Given the description of an element on the screen output the (x, y) to click on. 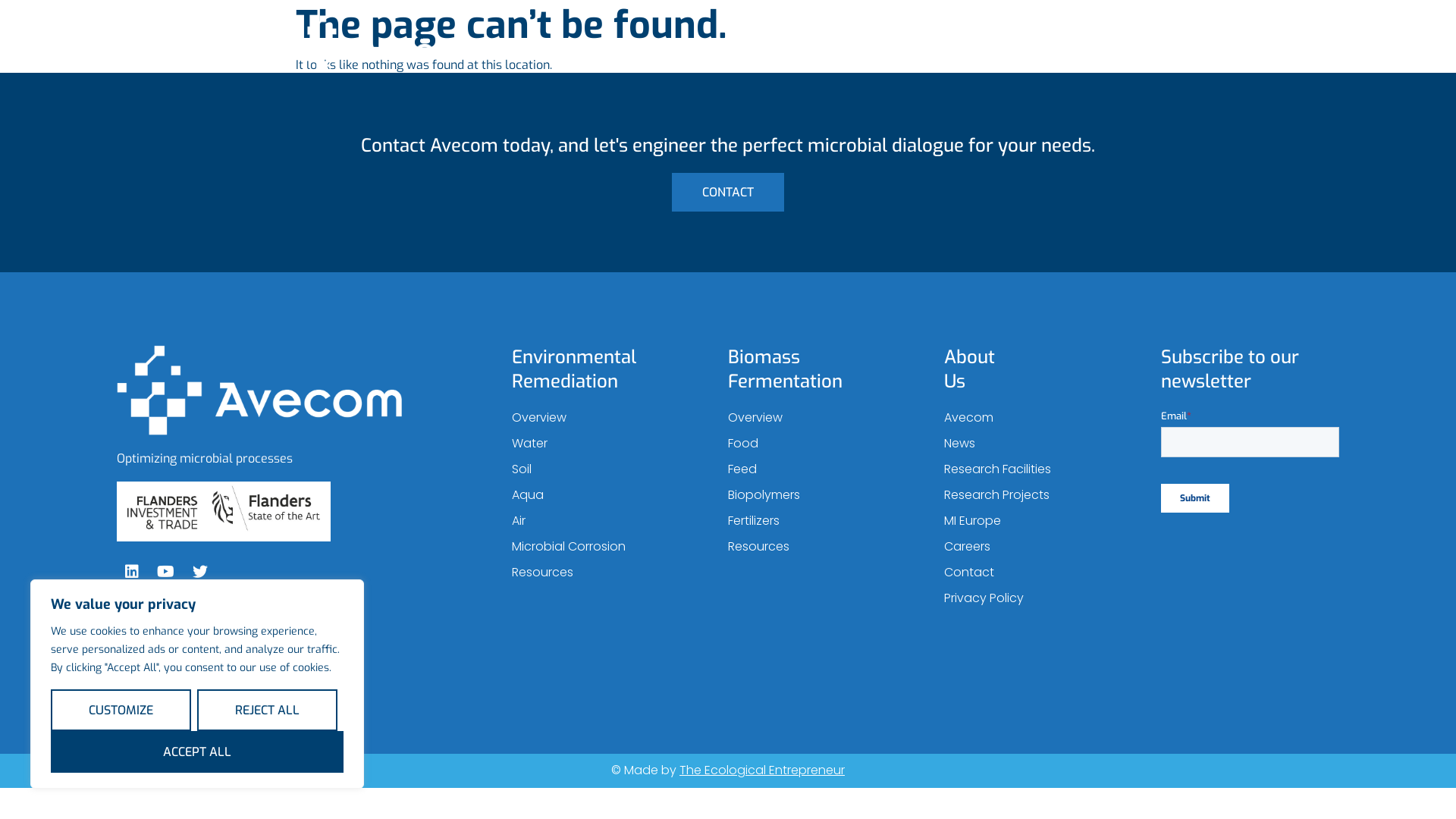
Avecom Element type: text (1033, 417)
Soil  Element type: text (600, 469)
Environmental Remediation Element type: text (613, 54)
Biopolymers Element type: text (817, 495)
Privacy Policy Element type: text (1033, 598)
sales@avecom.be Element type: text (294, 657)
Food Element type: text (817, 443)
Research Facilities Element type: text (1033, 469)
Water Element type: text (600, 443)
ACCEPT ALL Element type: text (196, 751)
EN Element type: text (1079, 54)
Biomass Fermentation Element type: text (802, 54)
Aqua Element type: text (600, 495)
Contact Element type: text (1033, 572)
Microbial Corrosion Element type: text (600, 546)
CUSTOMIZE Element type: text (120, 710)
Overview Element type: text (600, 417)
Research Projects Element type: text (1033, 495)
Fertilizers Element type: text (817, 520)
Resources Element type: text (600, 572)
Contact Element type: text (1138, 55)
MI Europe Element type: text (1033, 520)
CONTACT Element type: text (727, 191)
Form 0 Element type: hover (1250, 466)
REJECT ALL Element type: text (267, 710)
Resources Element type: text (817, 546)
+32 9 375 17 14 Element type: text (294, 672)
About Us Element type: text (938, 54)
Overview Element type: text (817, 417)
Careers Element type: text (1033, 546)
News Element type: text (1033, 443)
Air Element type: text (600, 520)
Feed Element type: text (817, 469)
